Given the description of an element on the screen output the (x, y) to click on. 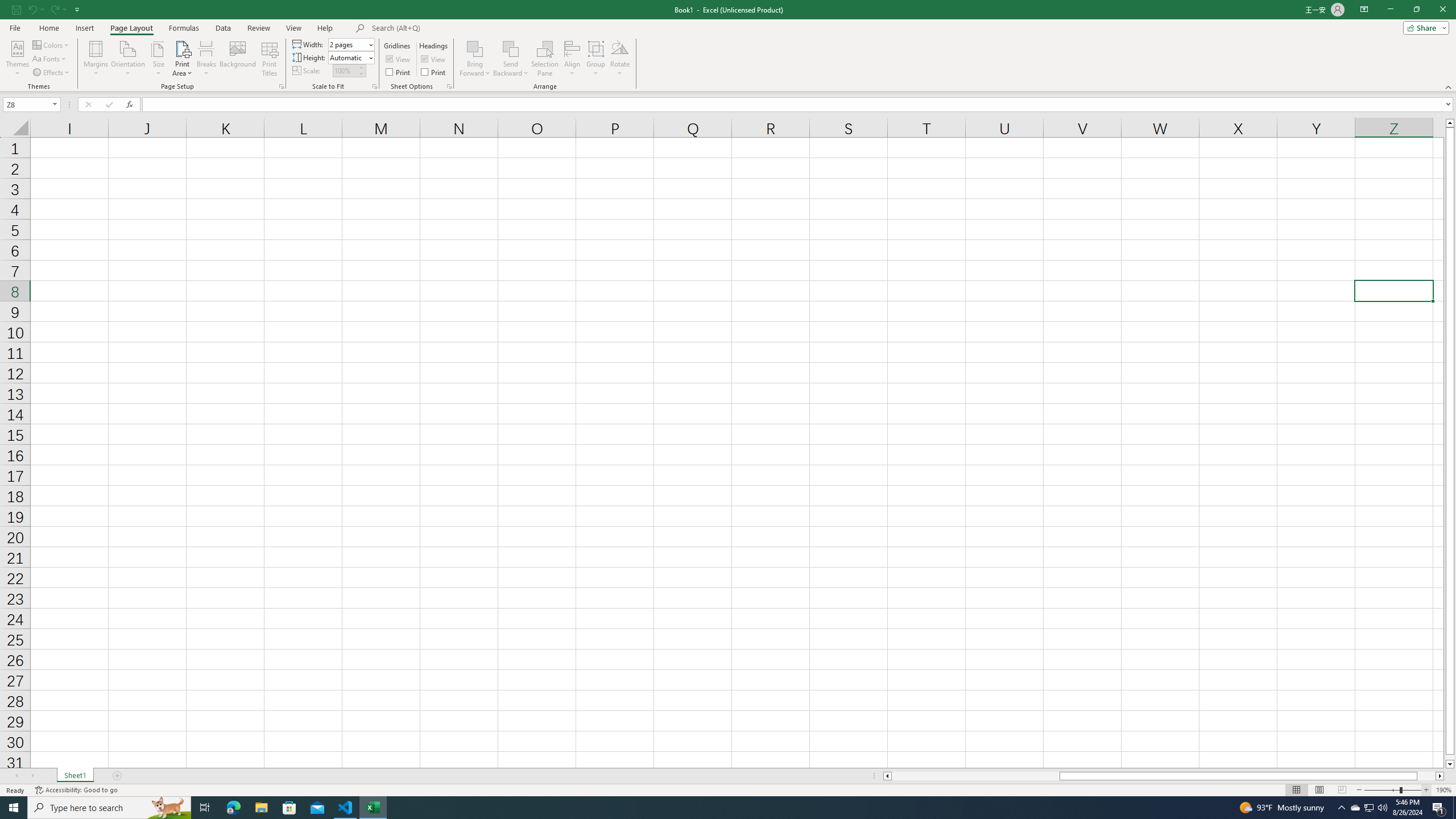
Line up (1449, 122)
Print Titles (269, 58)
Breaks (206, 58)
Share (1423, 27)
Fonts (49, 58)
Formulas (184, 28)
Redo (53, 9)
Data (223, 28)
Name Box (30, 104)
Sheet Options (449, 85)
Save (16, 9)
System (6, 6)
View (293, 28)
Zoom (1392, 790)
Minimize (1390, 9)
